Given the description of an element on the screen output the (x, y) to click on. 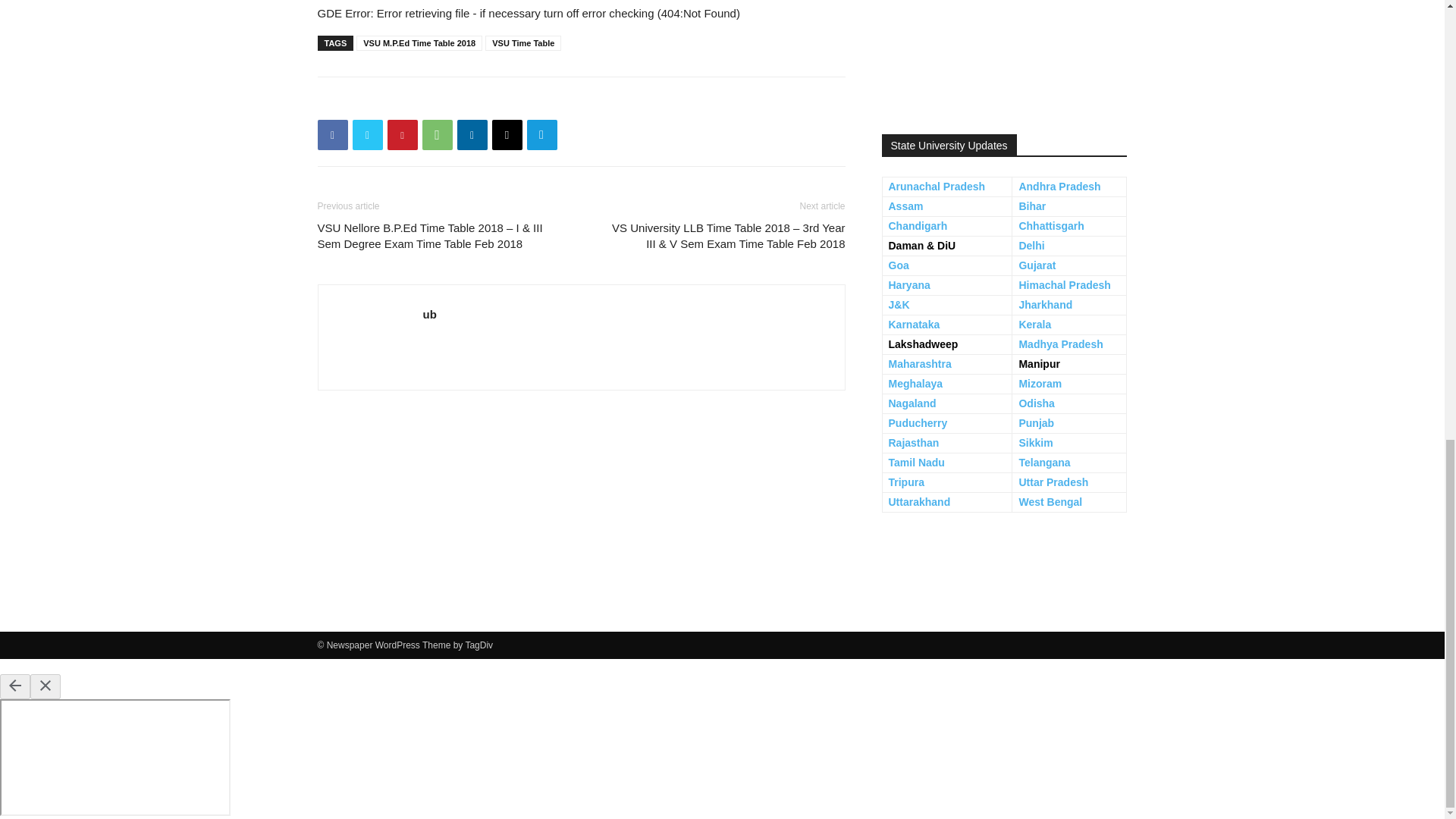
Email (506, 134)
VSU Time Table (522, 43)
Linkedin (471, 134)
bottomFacebookLike (430, 100)
WhatsApp (436, 134)
Twitter (366, 134)
VSU M.P.Ed Time Table 2018 (418, 43)
Pinterest (401, 134)
Facebook (332, 134)
